Given the description of an element on the screen output the (x, y) to click on. 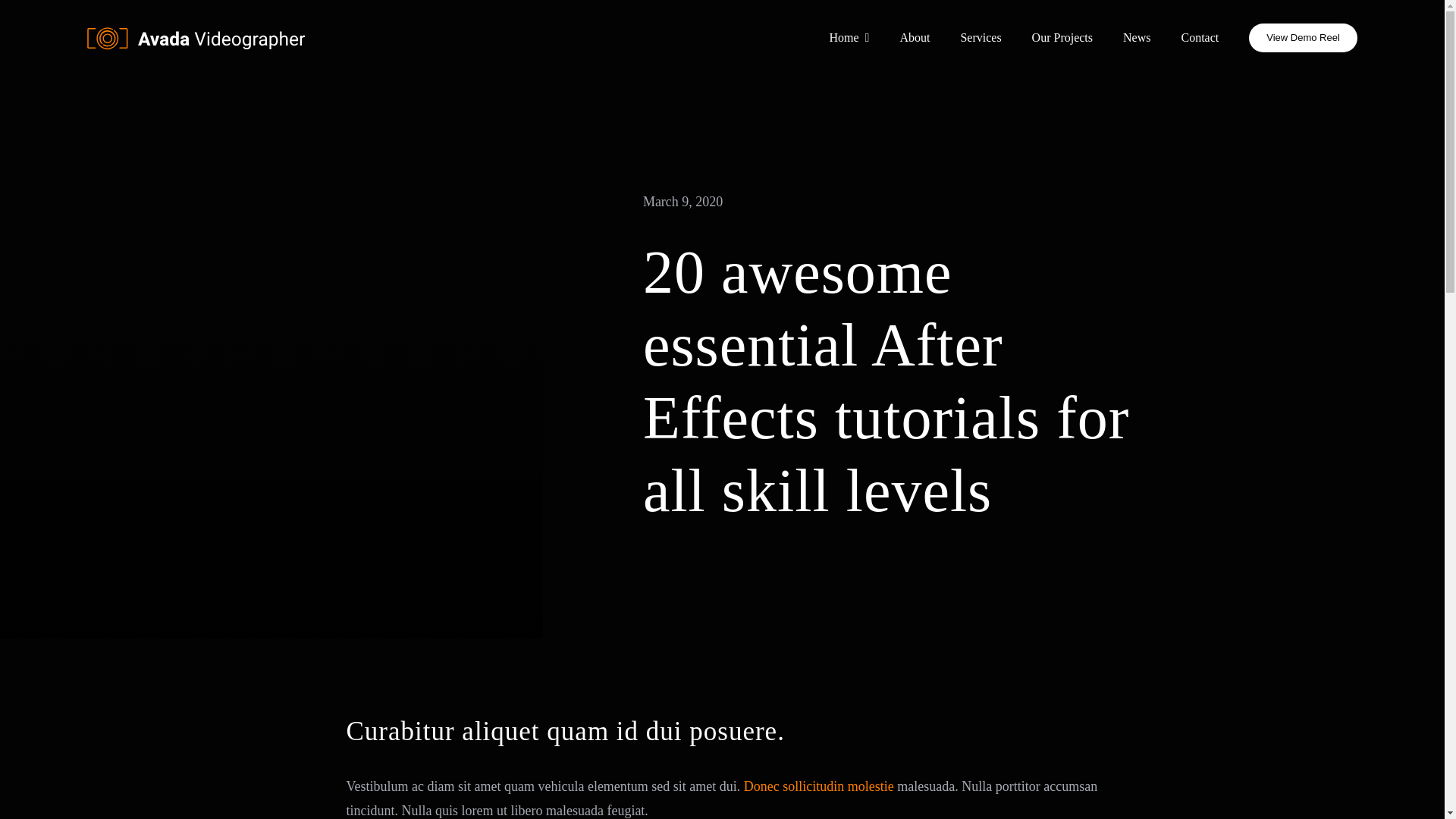
Contact Element type: text (1199, 37)
View Demo Reel Element type: text (1302, 37)
News Element type: text (1136, 37)
Donec sollicitudin molestie Element type: text (818, 785)
About Element type: text (914, 37)
Home Element type: text (848, 37)
Services Element type: text (980, 37)
Our Projects Element type: text (1062, 37)
